Given the description of an element on the screen output the (x, y) to click on. 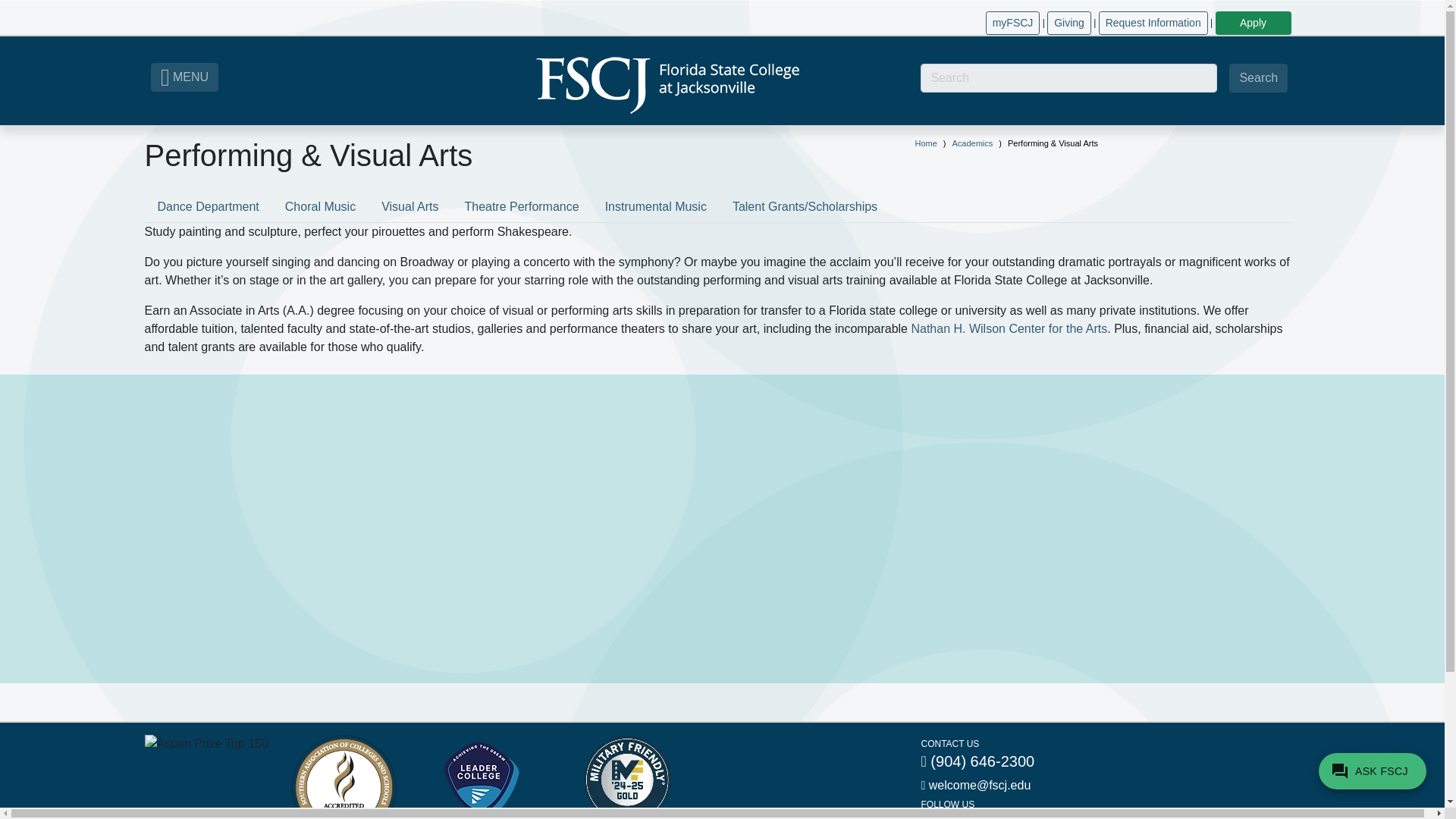
SACS Accredited (342, 776)
Achieving the Dream (480, 776)
Search input (1068, 77)
Aspen Prize Top 150 (205, 743)
ASK FSCJ (1372, 770)
